Given the description of an element on the screen output the (x, y) to click on. 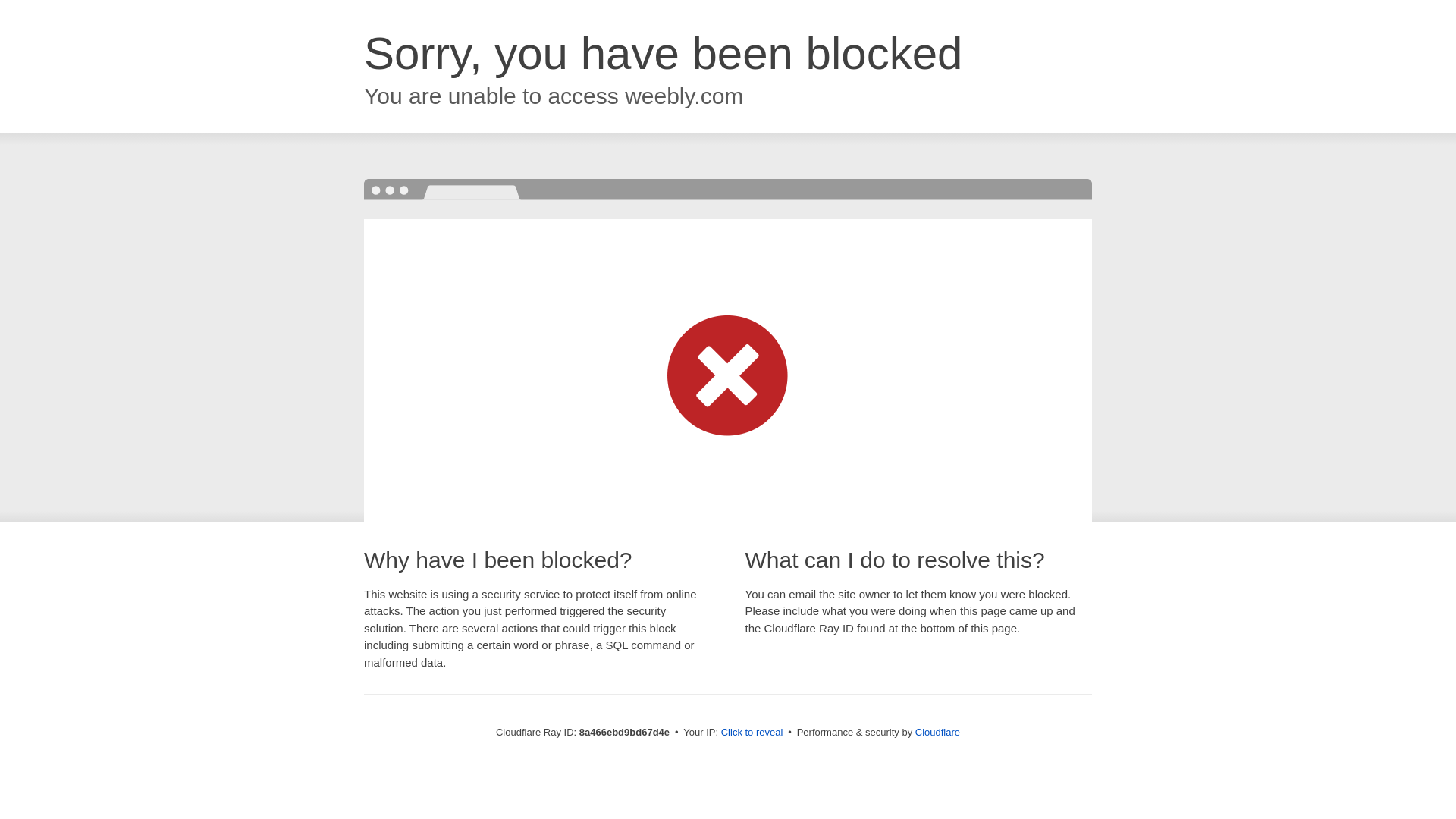
Cloudflare (937, 731)
Click to reveal (751, 732)
